Given the description of an element on the screen output the (x, y) to click on. 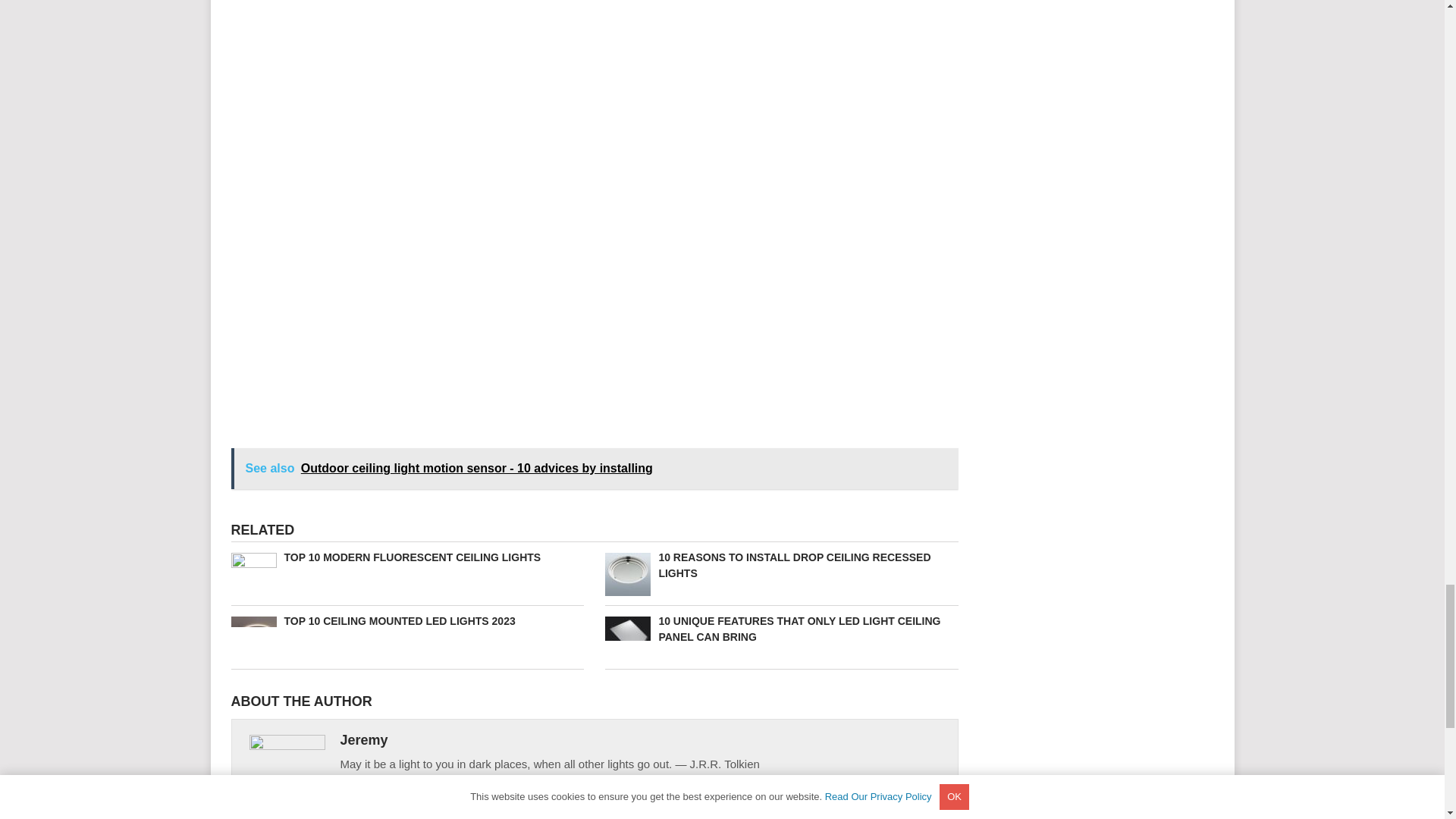
TOP 10 CEILING MOUNTED LED LIGHTS 2023 (406, 621)
TOP 10 MODERN FLUORESCENT CEILING LIGHTS (406, 557)
10 REASONS TO INSTALL DROP CEILING RECESSED LIGHTS (781, 565)
10 reasons to install Drop ceiling recessed lights (781, 565)
TOP 10 Modern fluorescent ceiling lights (406, 557)
TOP 10 Ceiling mounted led lights 2023 (406, 621)
